Given the description of an element on the screen output the (x, y) to click on. 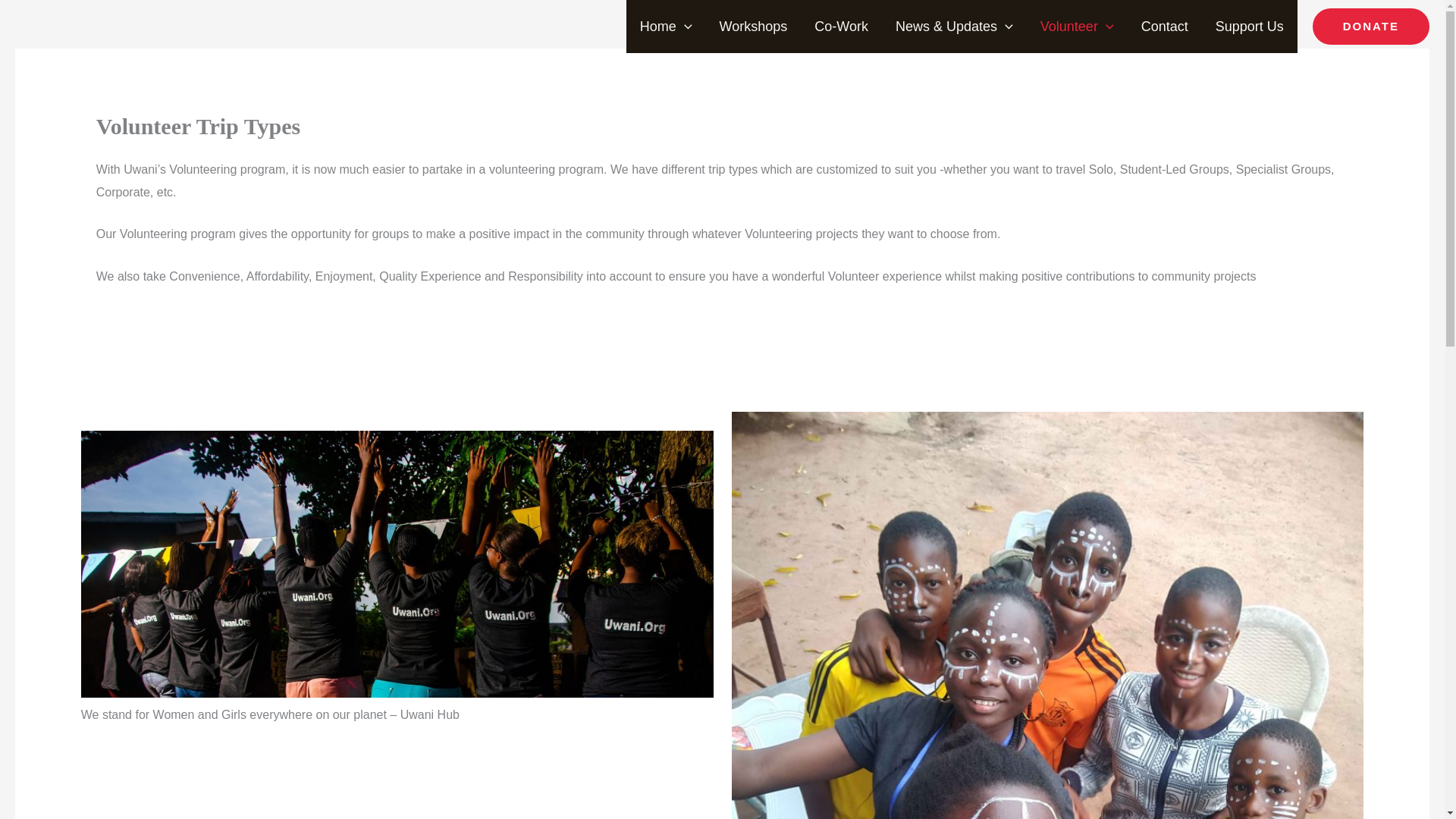
Co-Work (841, 26)
DONATE (1371, 26)
Home (666, 26)
Volunteer (1076, 26)
Support Us (1249, 26)
Contact (1164, 26)
Workshops (754, 26)
